Given the description of an element on the screen output the (x, y) to click on. 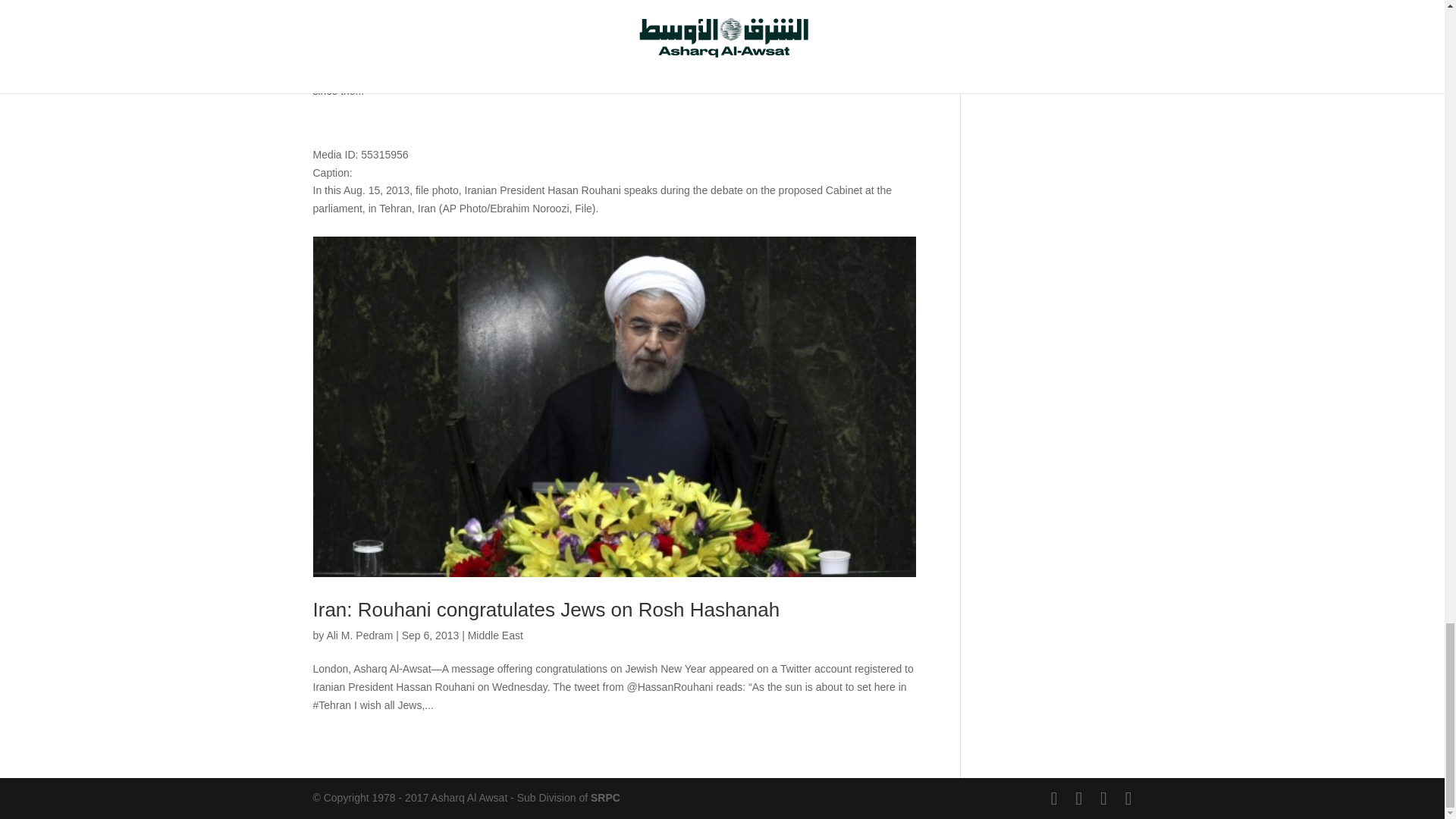
Features (508, 21)
Ali M. Pedram (359, 635)
Shireen Qabbani (366, 21)
SRPC (605, 797)
Middle East (494, 635)
Iran: Rouhani congratulates Jews on Rosh Hashanah (545, 609)
Posts by Shireen Qabbani (366, 21)
Posts by Ali M. Pedram (359, 635)
